Given the description of an element on the screen output the (x, y) to click on. 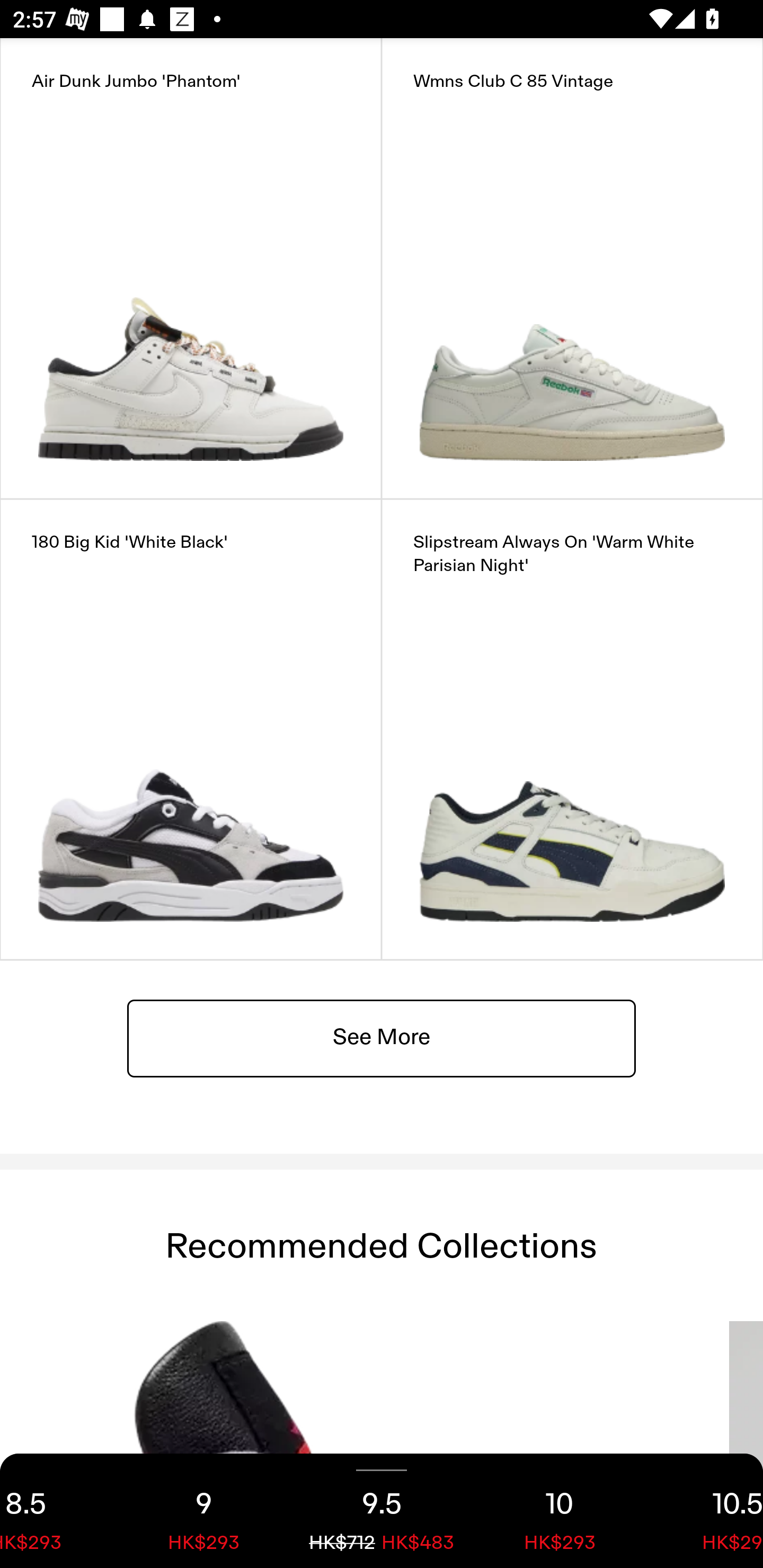
Air Dunk Jumbo 'Phantom' (190, 267)
Wmns Club C 85 Vintage (572, 267)
180 Big Kid 'White Black' (190, 728)
Slipstream Always On 'Warm White Parisian Night' (572, 728)
See More (381, 1037)
8.5 HK$293 (57, 1510)
9 HK$293 (203, 1510)
9.5 HK$712 HK$483 (381, 1510)
10 HK$293 (559, 1510)
10.5 HK$293 (705, 1510)
